Given the description of an element on the screen output the (x, y) to click on. 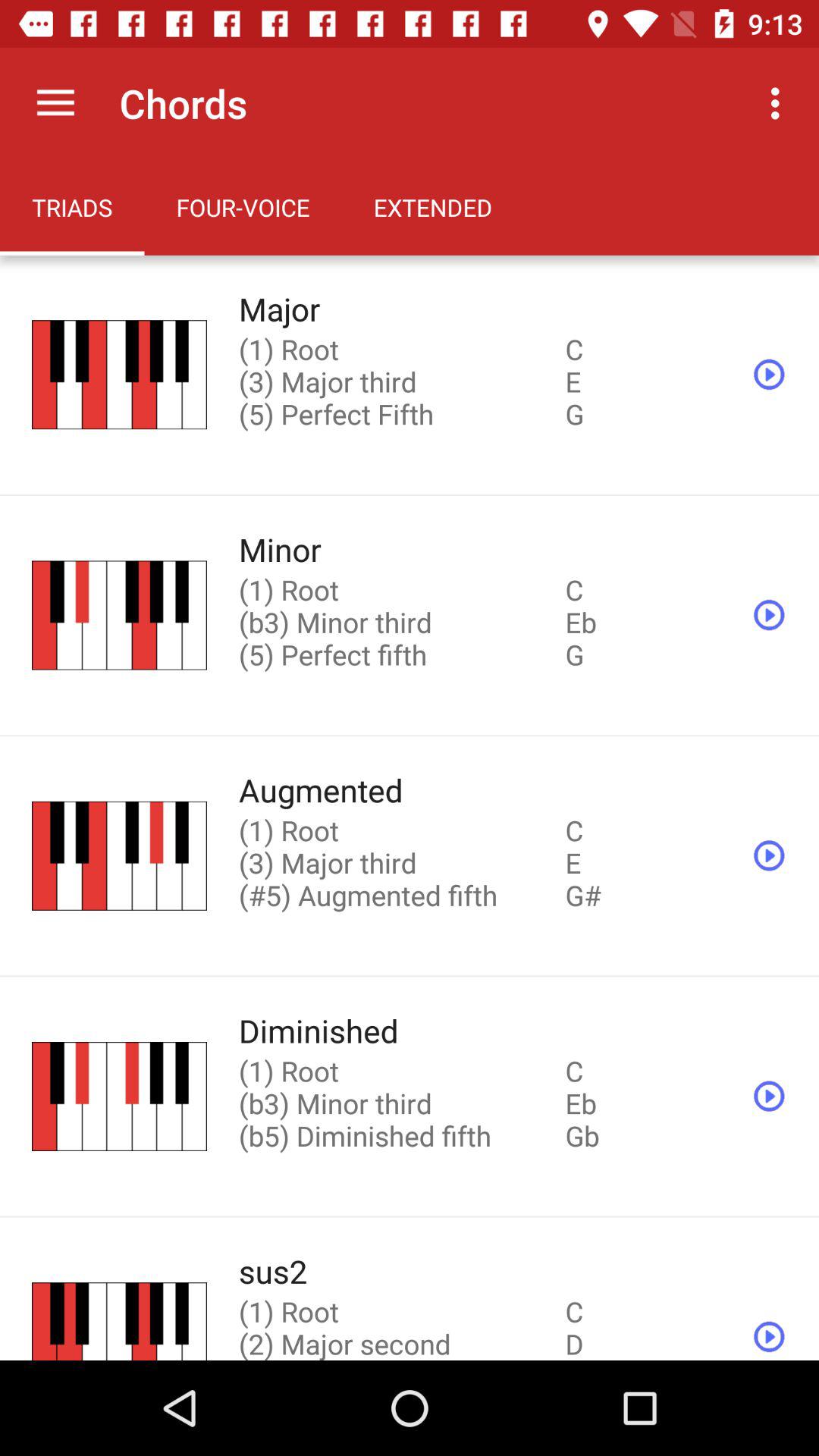
select the image which is before diminished (119, 1097)
click on the play icon which is on top right side (769, 374)
select the image which is left side to the text augmented (119, 855)
